Given the description of an element on the screen output the (x, y) to click on. 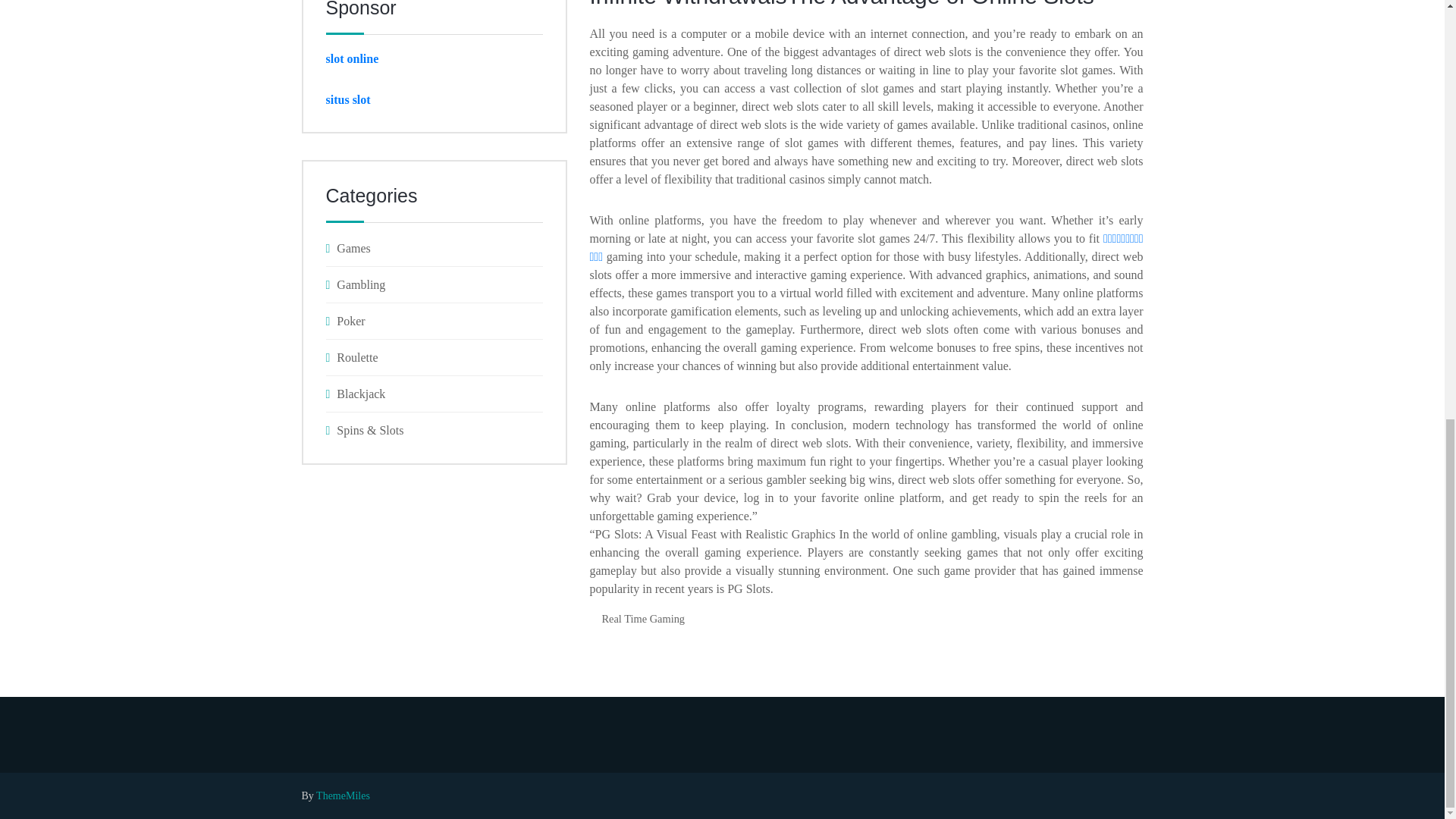
situs slot (348, 99)
Roulette (434, 357)
Real Time Gaming (643, 619)
ThemeMiles (342, 795)
Gambling (434, 284)
Games (434, 248)
slot online (352, 58)
Blackjack (434, 394)
Poker (434, 321)
